Given the description of an element on the screen output the (x, y) to click on. 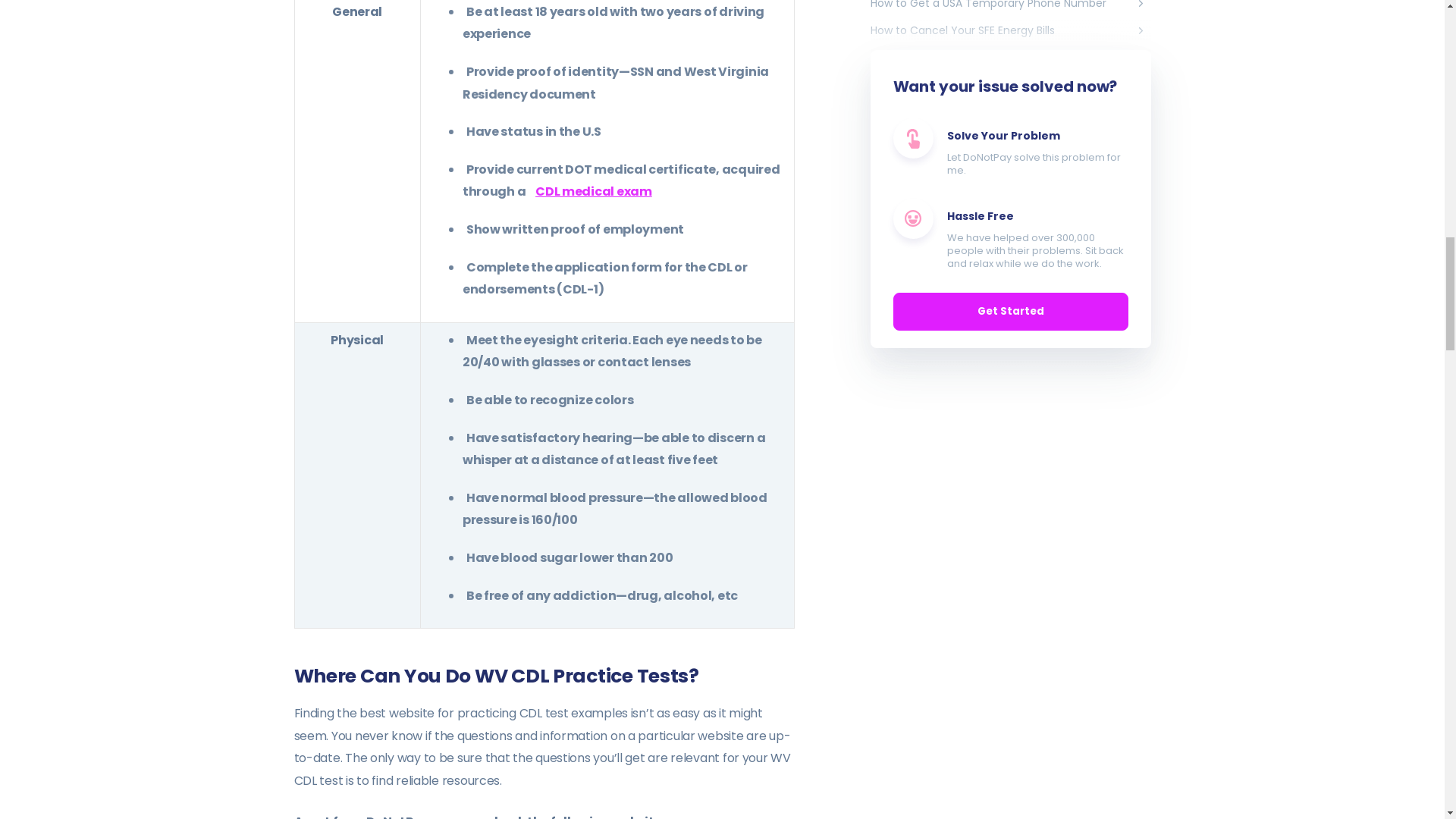
CDL medical exam (593, 191)
